Given the description of an element on the screen output the (x, y) to click on. 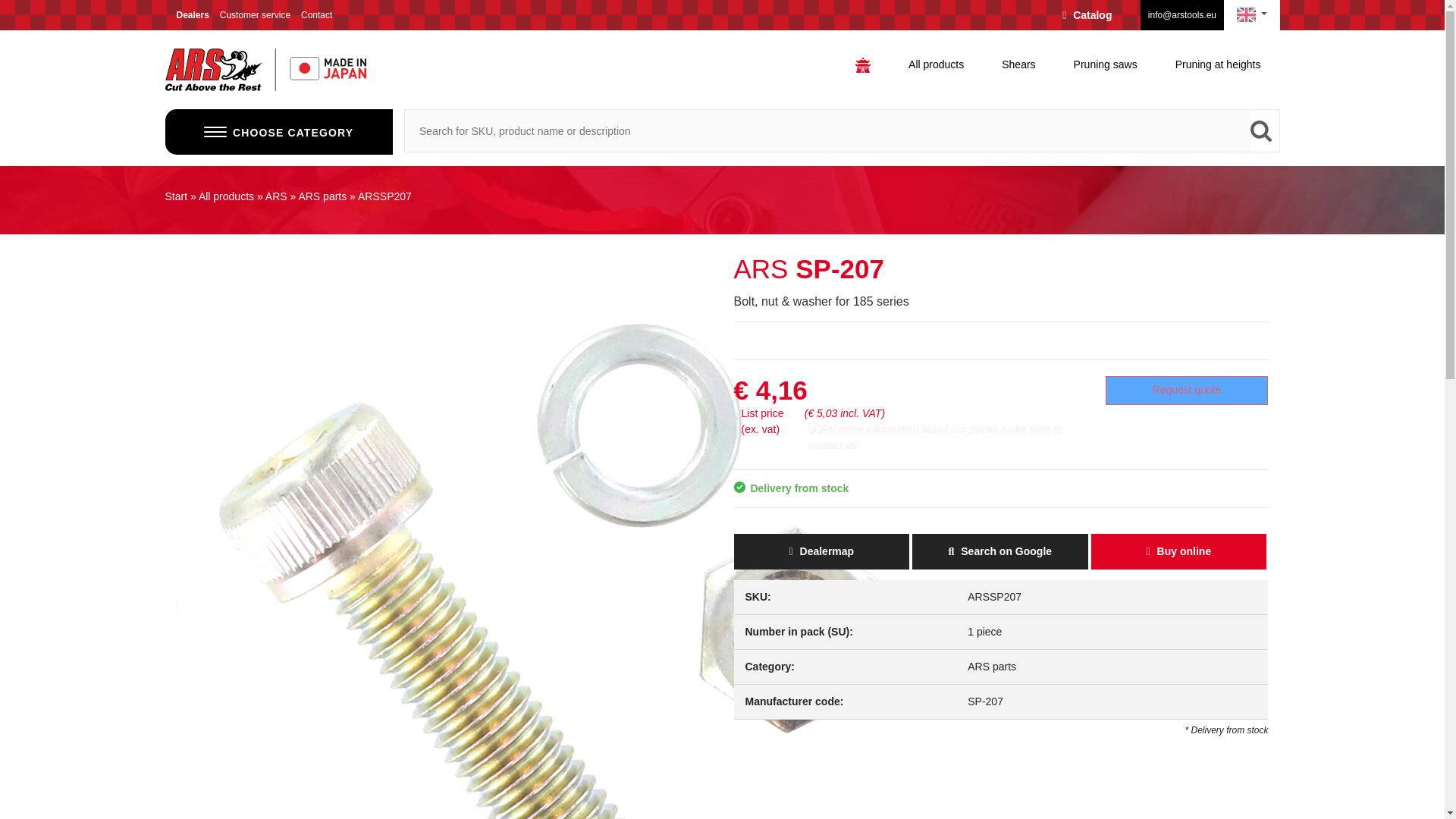
Pruning at heights (1217, 64)
Pruning saws (1105, 64)
All products (935, 64)
Customer service (254, 15)
CHOOSE CATEGORY (279, 131)
Dealers (192, 15)
Shears (1018, 64)
ARS ARSSP207 (554, 605)
Catalog (1086, 15)
Contact (316, 15)
